Given the description of an element on the screen output the (x, y) to click on. 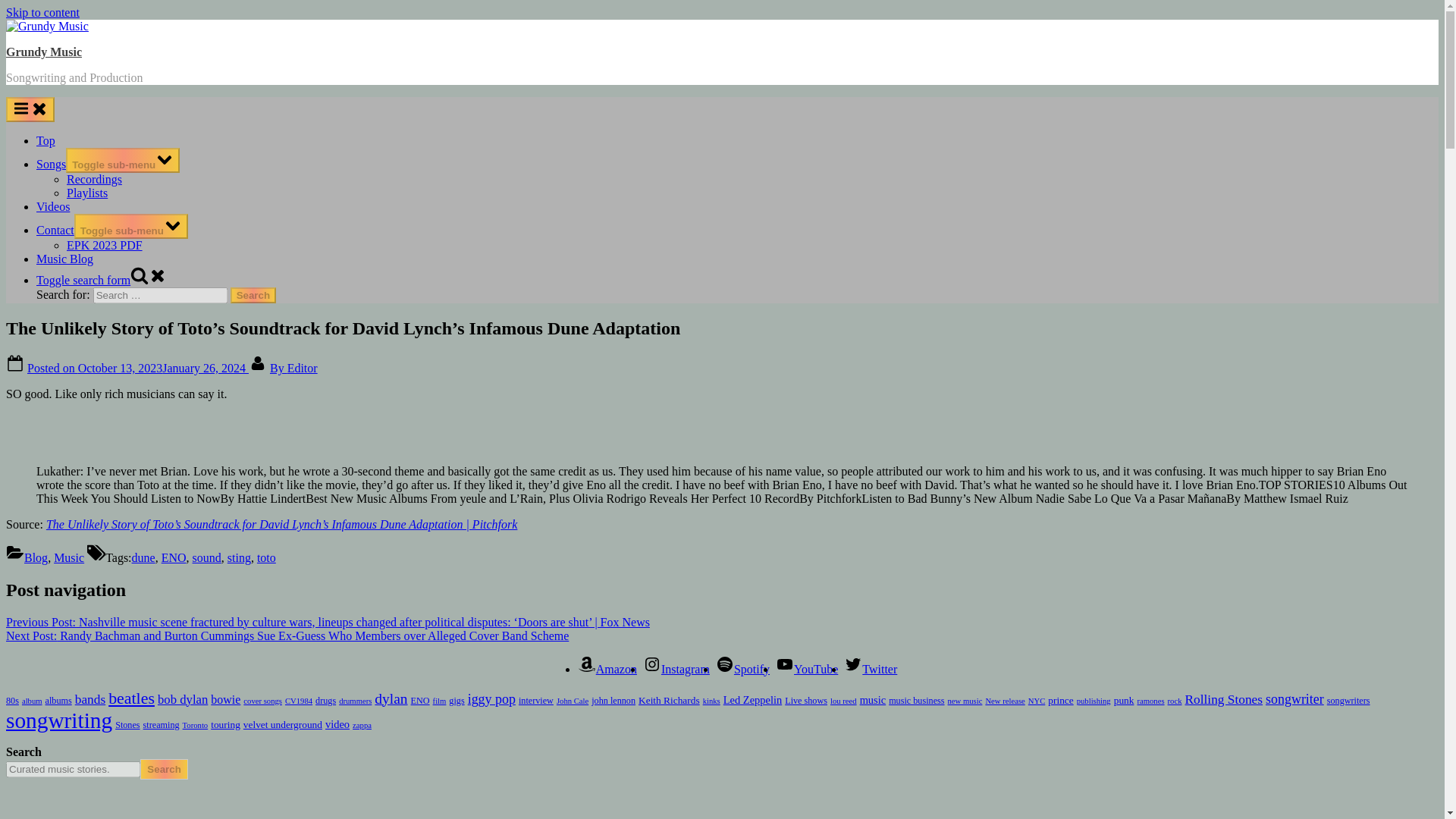
Music Blog (64, 258)
Search (253, 295)
Instagram (676, 668)
By Editor (293, 367)
sting (238, 557)
Search (253, 295)
bands (89, 699)
albums (58, 700)
Music (68, 557)
Blog (36, 557)
